Given the description of an element on the screen output the (x, y) to click on. 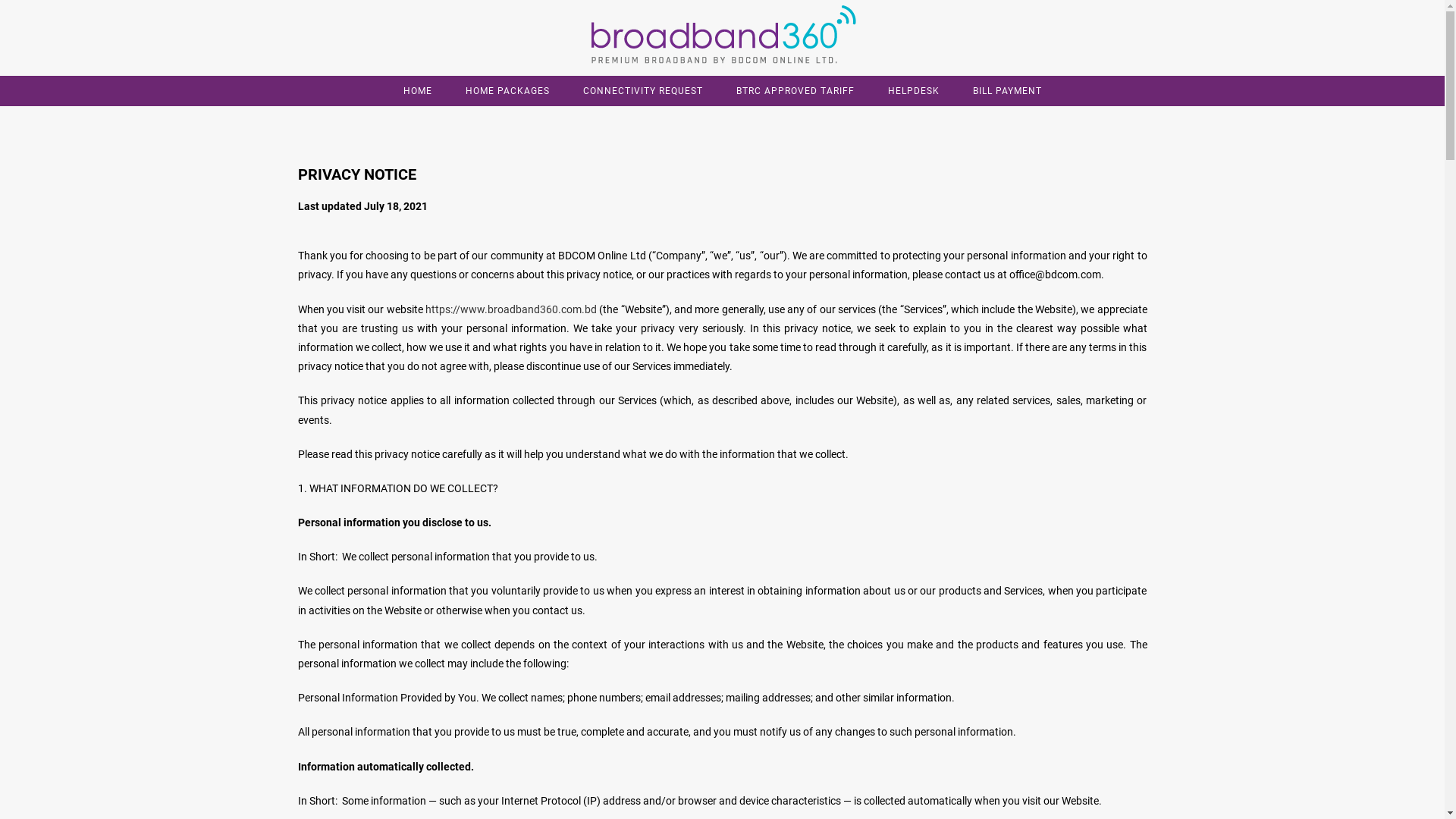
CONNECTIVITY REQUEST Element type: text (641, 90)
BTRC APPROVED TARIFF Element type: text (794, 90)
HOME Element type: text (417, 90)
HELPDESK Element type: text (912, 90)
https://www.broadband360.com.bd Element type: text (510, 309)
BILL PAYMENT Element type: text (1006, 90)
HOME PACKAGES Element type: text (507, 90)
